Given the description of an element on the screen output the (x, y) to click on. 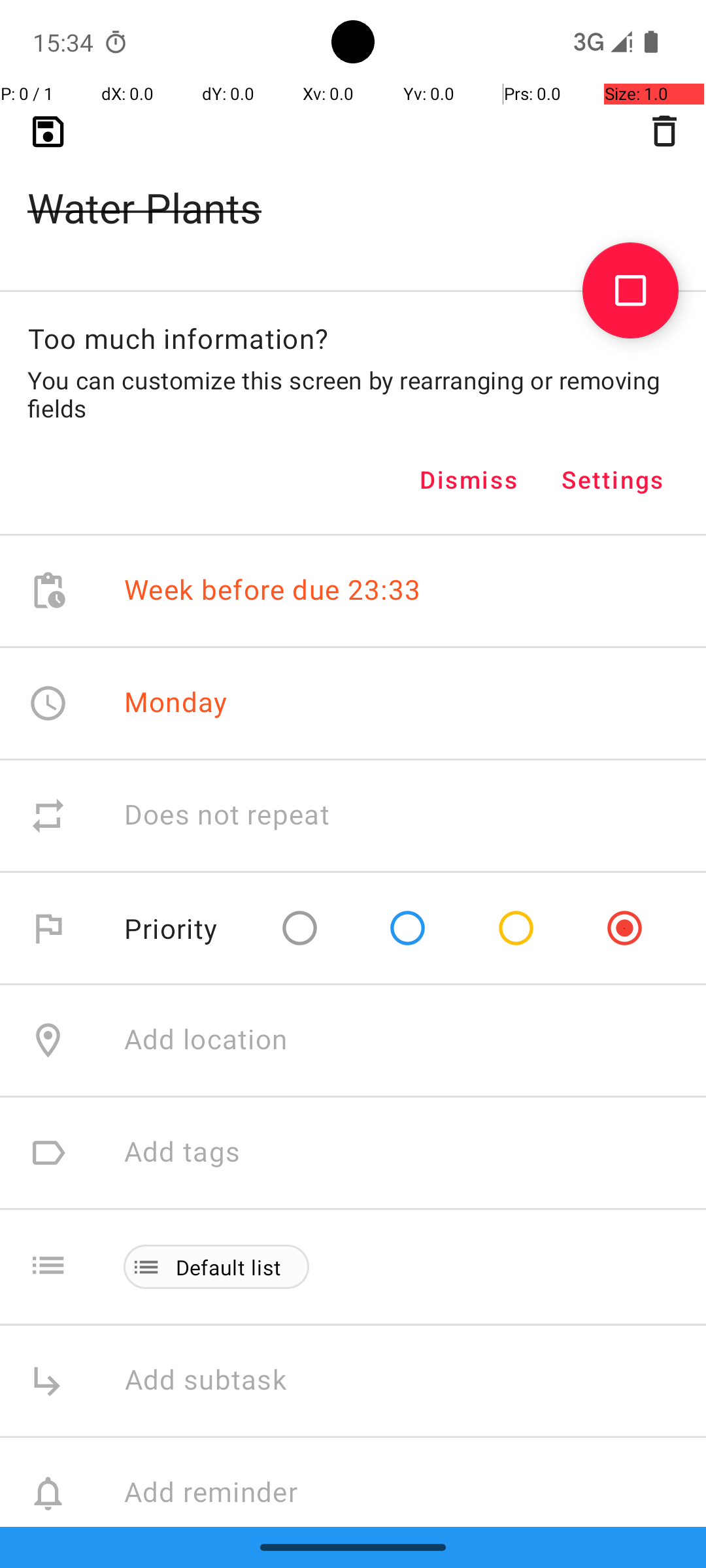
Week before due 23:33 Element type: android.widget.TextView (272, 590)
